Given the description of an element on the screen output the (x, y) to click on. 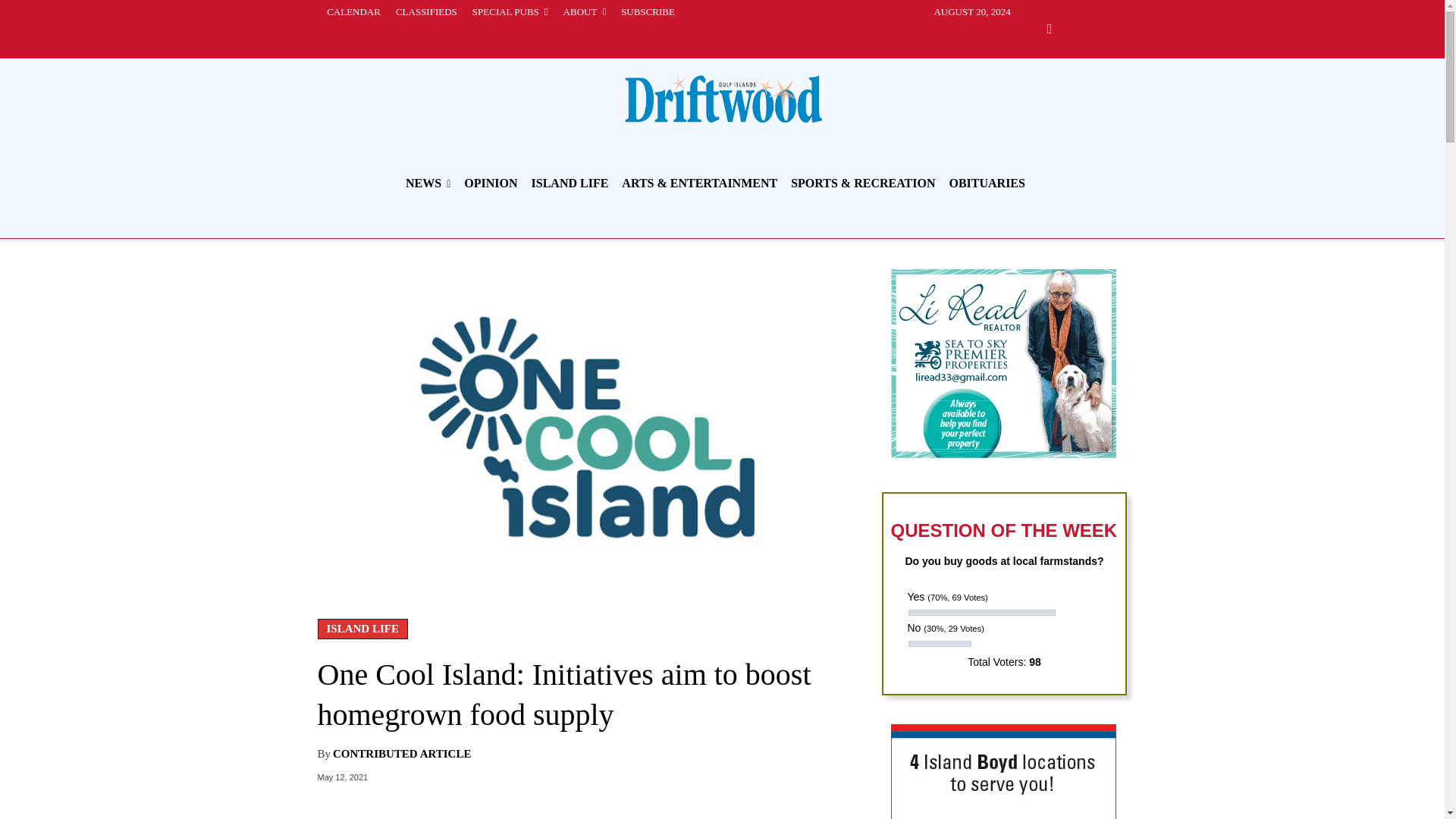
SPECIAL PUBS (510, 11)
CLASSIFIEDS (426, 11)
CALENDAR (353, 11)
